Given the description of an element on the screen output the (x, y) to click on. 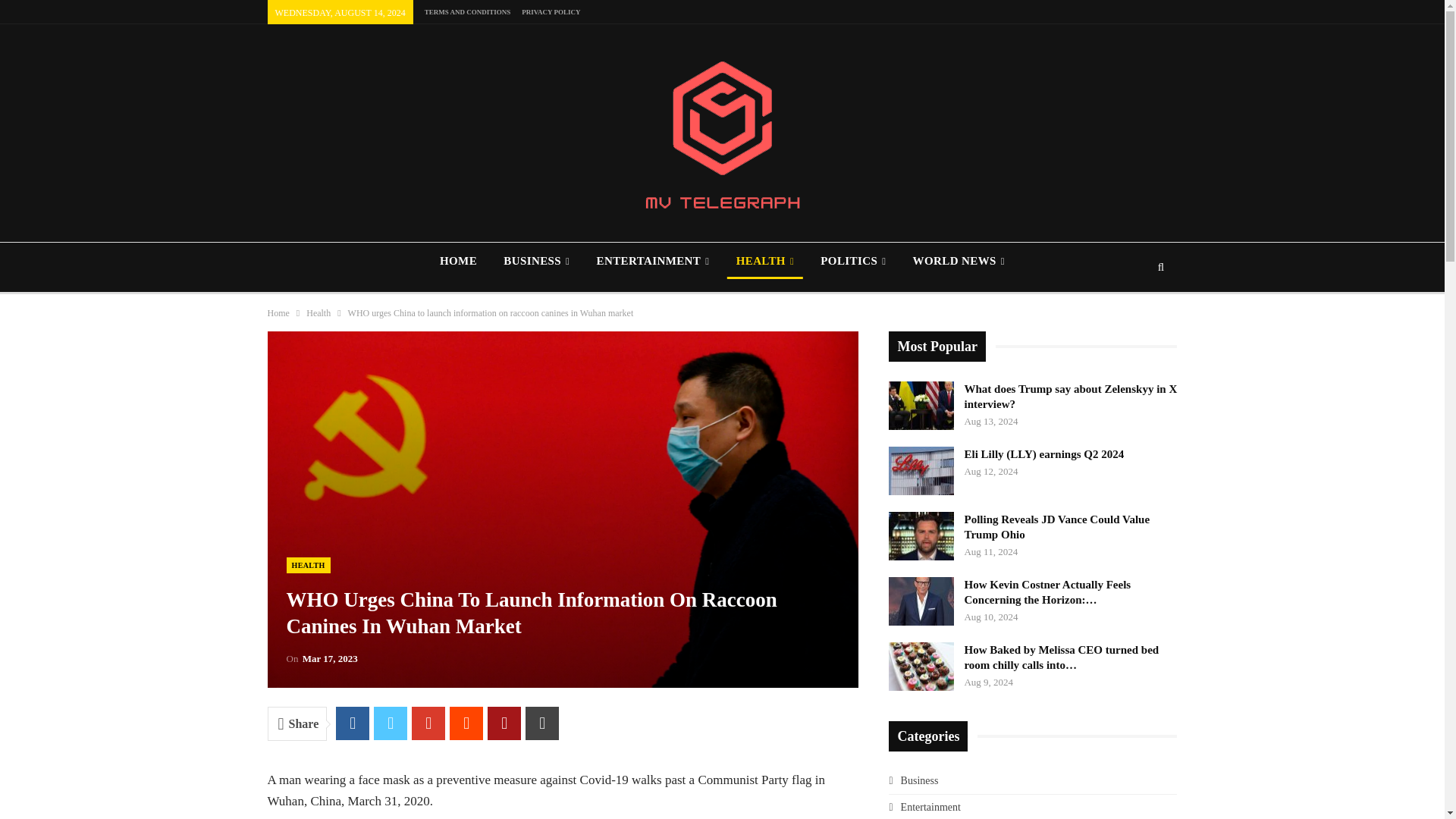
HOME (458, 260)
BUSINESS (536, 260)
ENTERTAINMENT (651, 260)
PRIVACY POLICY (550, 11)
TERMS AND CONDITIONS (468, 11)
HEALTH (764, 260)
